Given the description of an element on the screen output the (x, y) to click on. 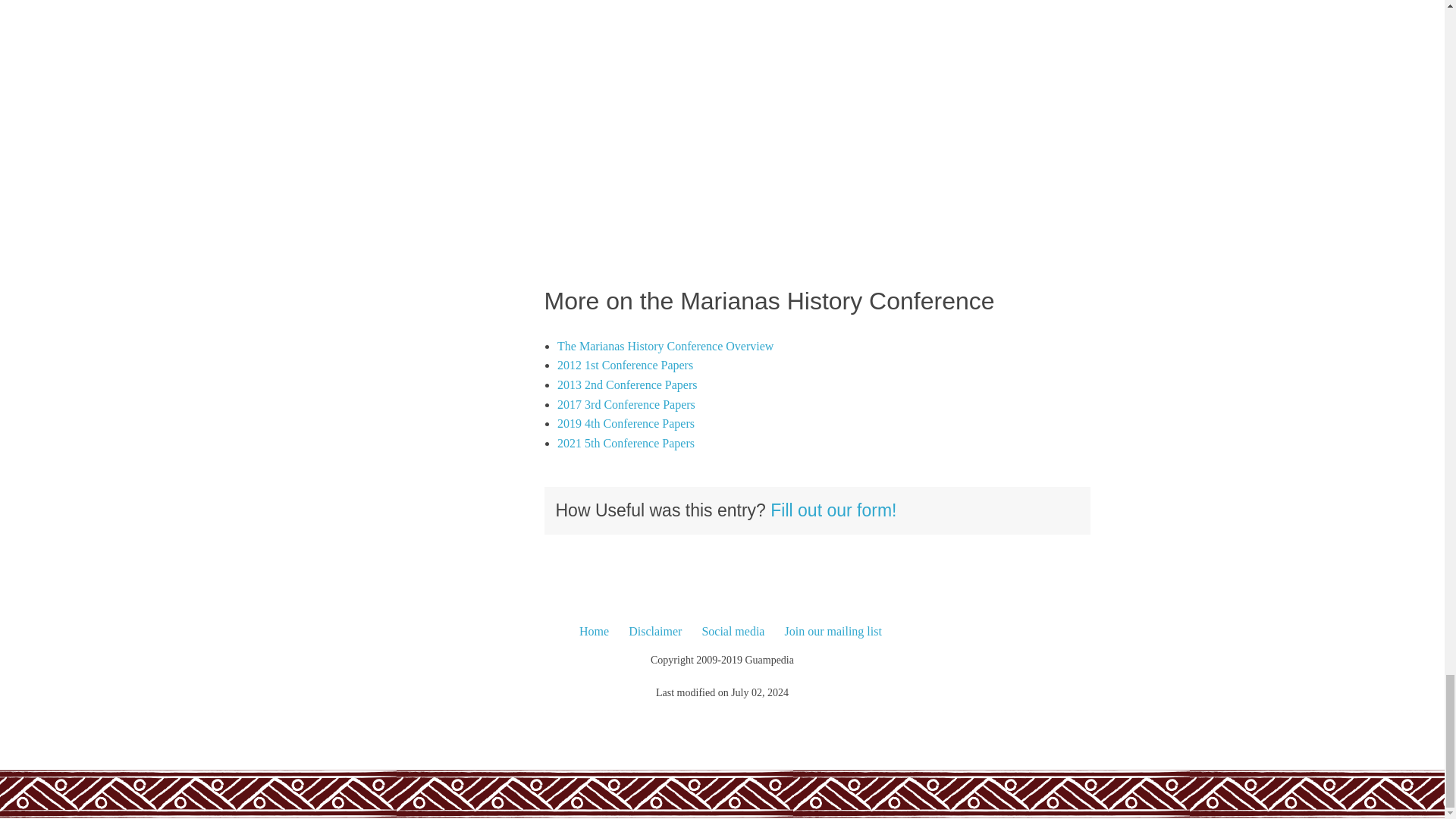
Home (593, 631)
The Marianas History Conference Overview (665, 345)
2013 2nd Conference Papers (627, 384)
2012 1st Conference Papers (625, 364)
Fill out our form! (833, 510)
2017 3rd Conference Papers (626, 404)
Disclaimer (654, 631)
Join our mailing list (832, 631)
2019 4th Conference Papers (625, 422)
2021 5th Conference Papers (625, 442)
